Given the description of an element on the screen output the (x, y) to click on. 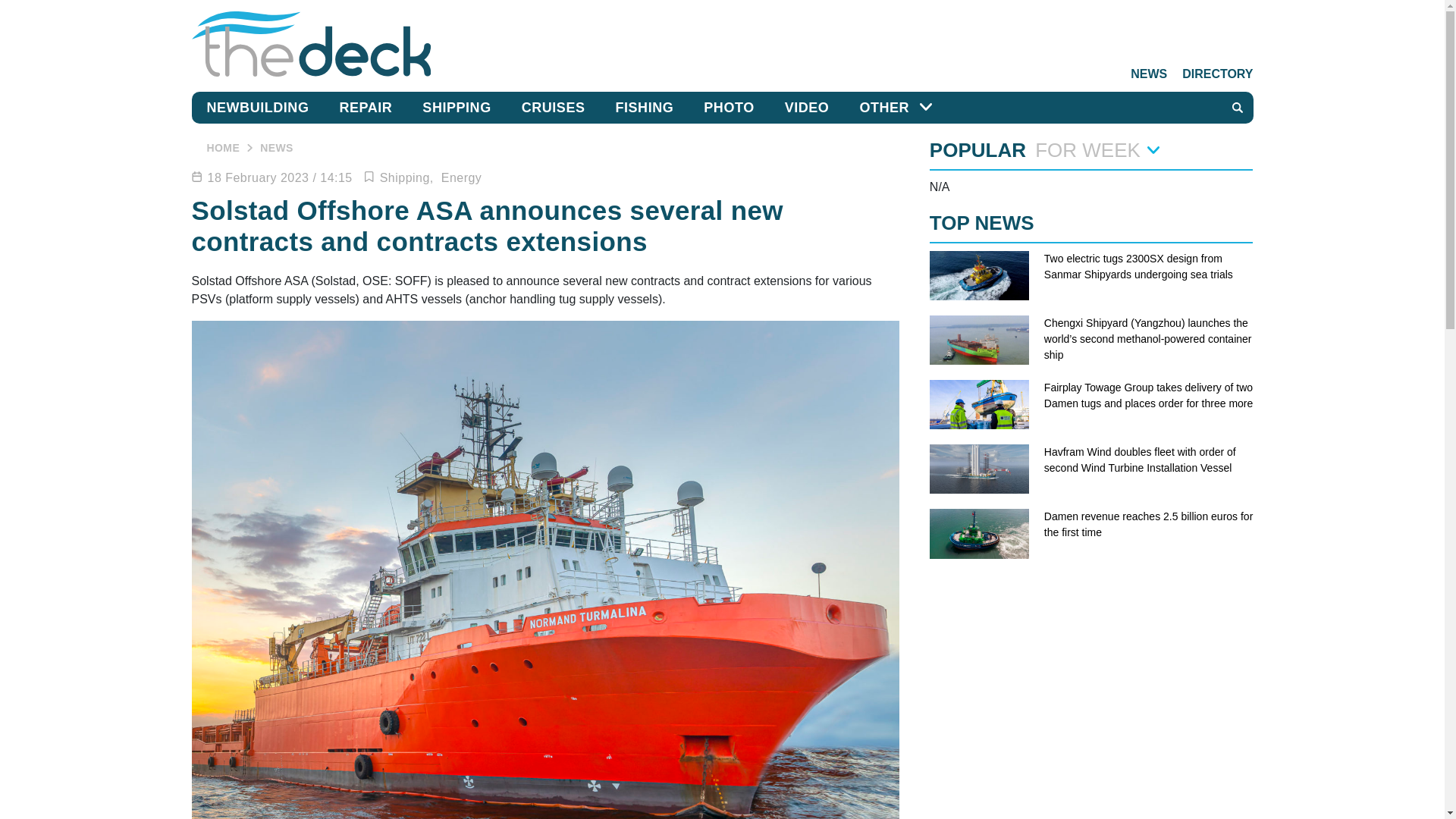
SHIPPING (456, 107)
OTHER (884, 107)
NEWS (1141, 73)
CRUISES (552, 107)
NEWBUILDING (256, 107)
NEWS (277, 147)
PHOTO (728, 107)
Energy (461, 177)
HOME (223, 147)
VIDEO (807, 107)
FISHING (643, 107)
DIRECTORY (1209, 73)
Shipping (406, 177)
REPAIR (365, 107)
